Given the description of an element on the screen output the (x, y) to click on. 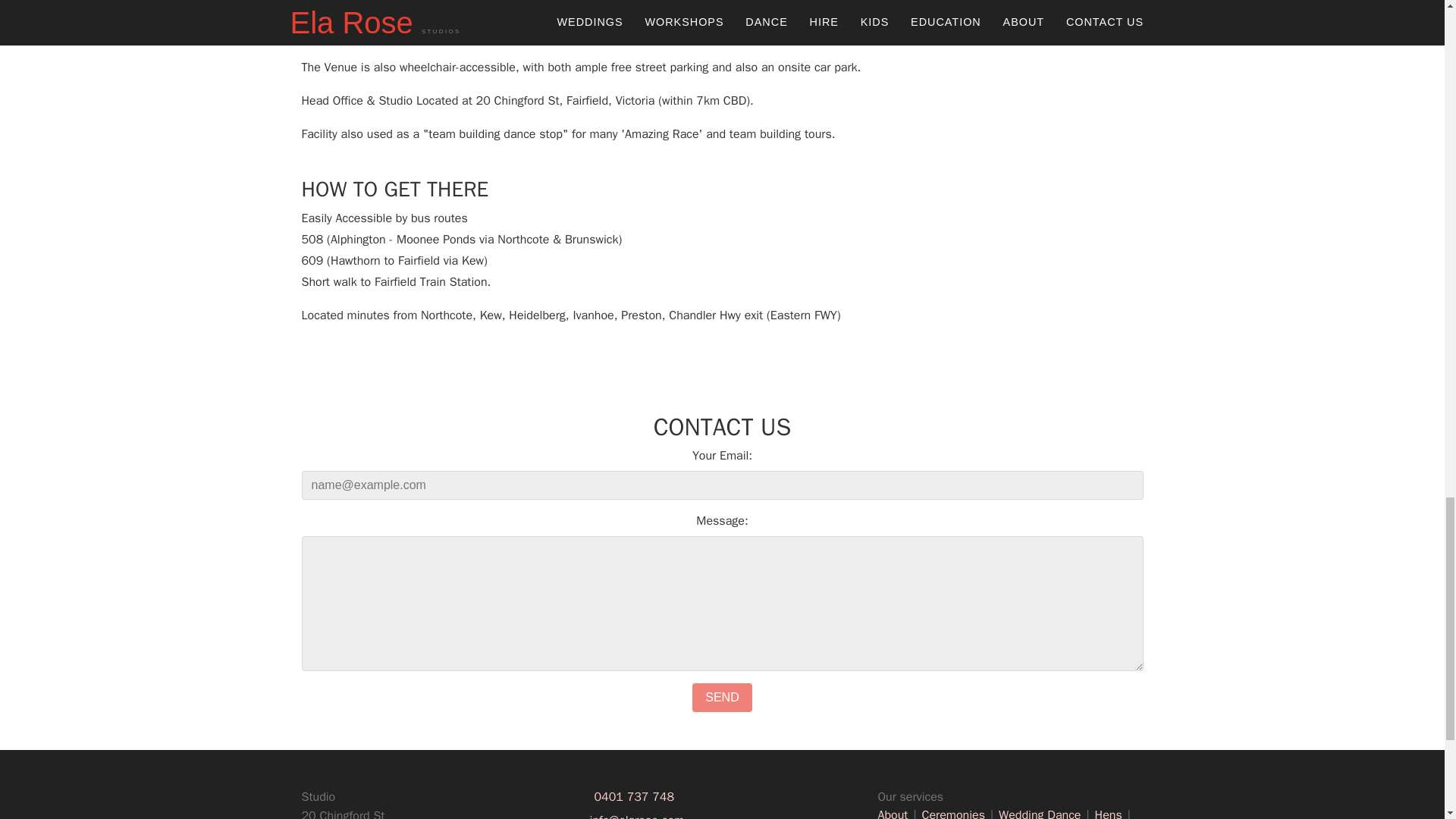
Hens (1110, 813)
About (894, 813)
SEND (722, 697)
Ceremonies (955, 813)
0401 737 748 (634, 796)
Wedding Dance (1042, 813)
